Given the description of an element on the screen output the (x, y) to click on. 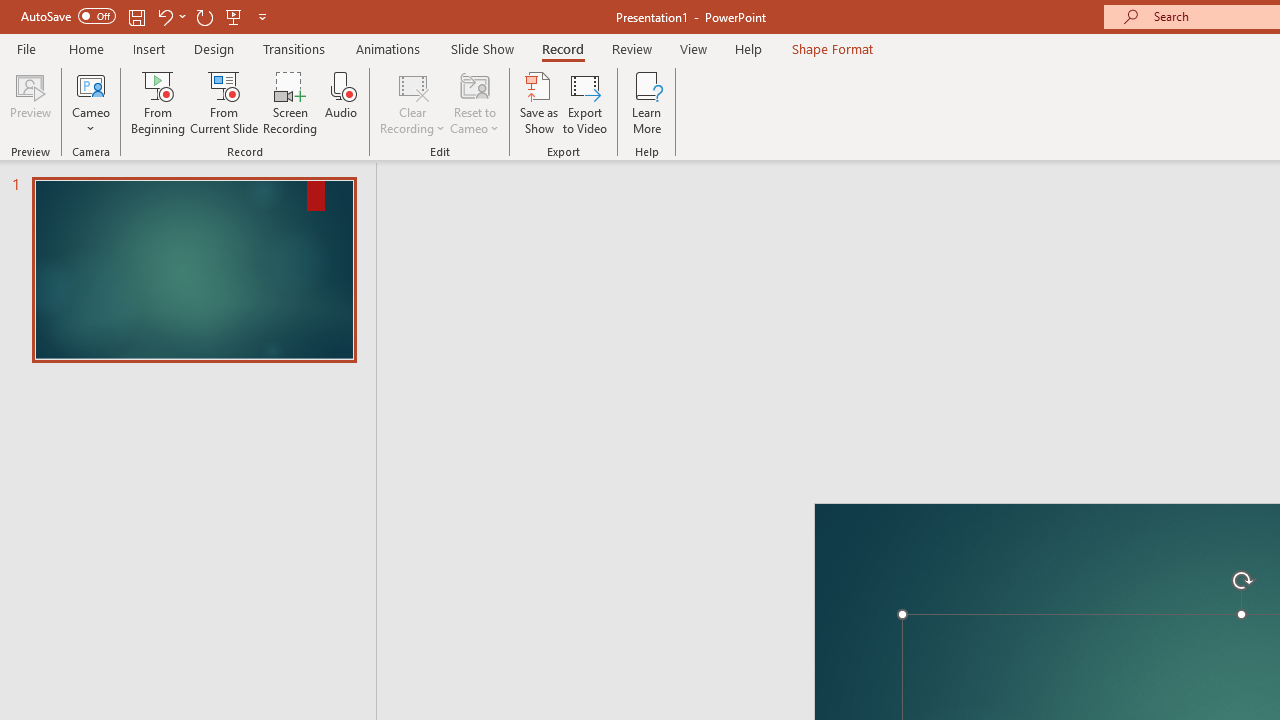
System (10, 11)
Screen Recording (290, 102)
Learn More (646, 102)
Redo (204, 15)
Save as Show (539, 102)
Review (631, 48)
Save (136, 15)
